Given the description of an element on the screen output the (x, y) to click on. 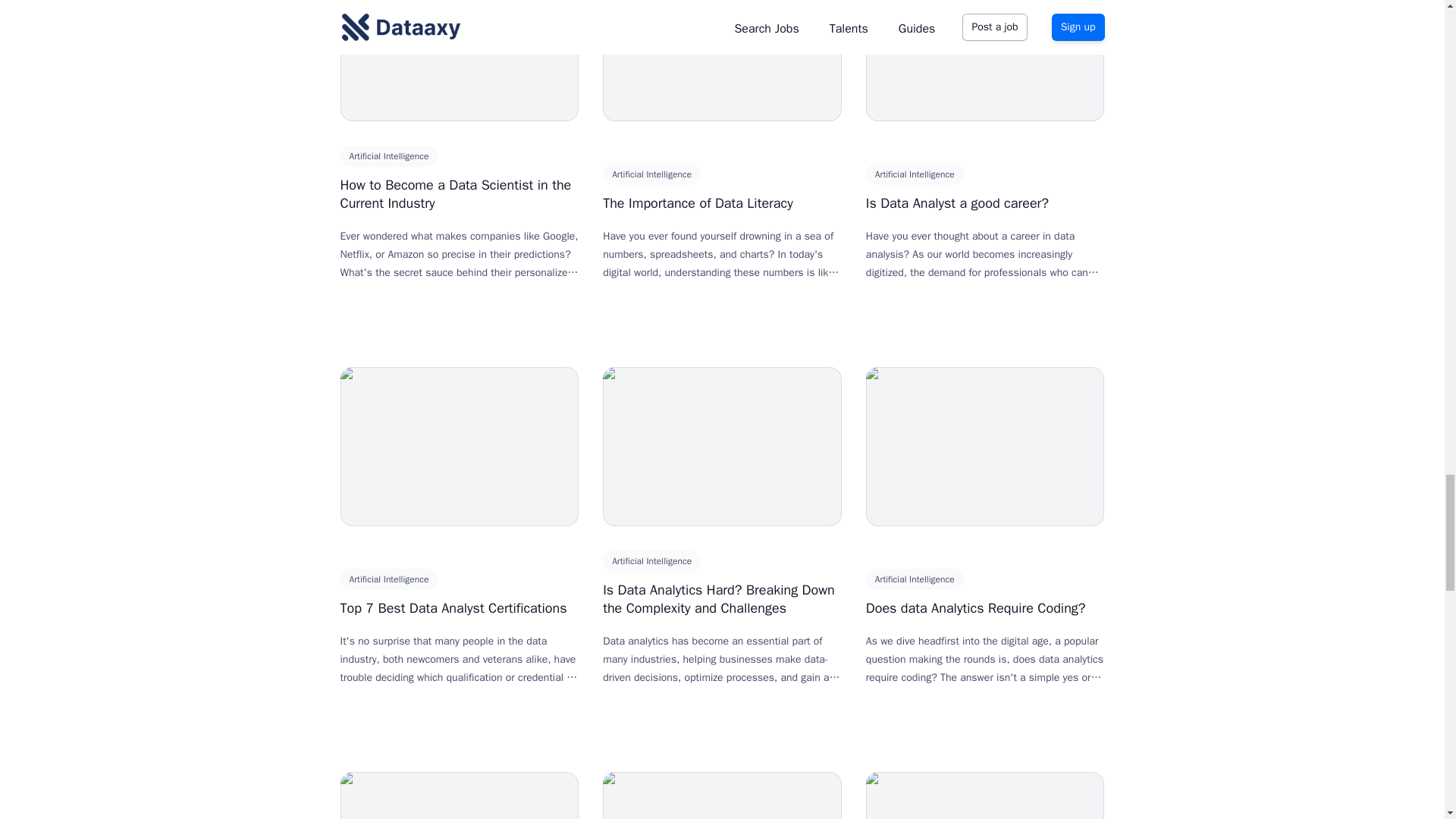
Artificial Intelligence (914, 174)
Artificial Intelligence (651, 560)
How to Become a Data Scientist in the Current Industry (454, 193)
Artificial Intelligence (914, 578)
Is Data Analyst a good career? (957, 202)
The Importance of Data Literacy (697, 202)
Does data Analytics Require Coding? (976, 607)
Top 7 Best Data Analyst Certifications (452, 607)
Artificial Intelligence (388, 156)
